Given the description of an element on the screen output the (x, y) to click on. 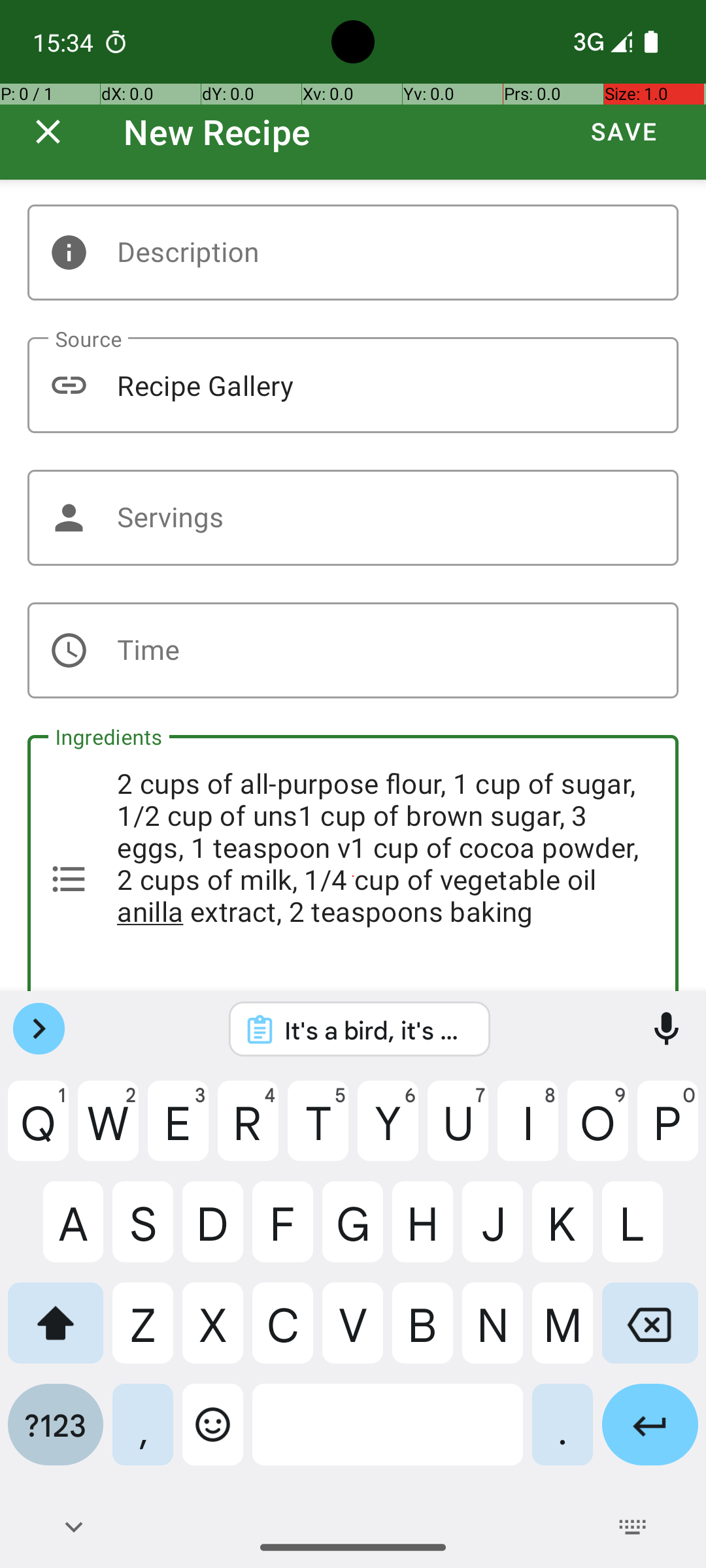
Recipe Gallery Element type: android.widget.EditText (352, 385)
2 cups of all-purpose flour, 1 cup of sugar, 1/2 cup of uns1 cup of brown sugar, 3 eggs, 1 teaspoon v1 cup of cocoa powder, 2 cups of milk, 1/4 cup of vegetable oil
anilla extract, 2 teaspoons baking

 Element type: android.widget.EditText (352, 863)
